Given the description of an element on the screen output the (x, y) to click on. 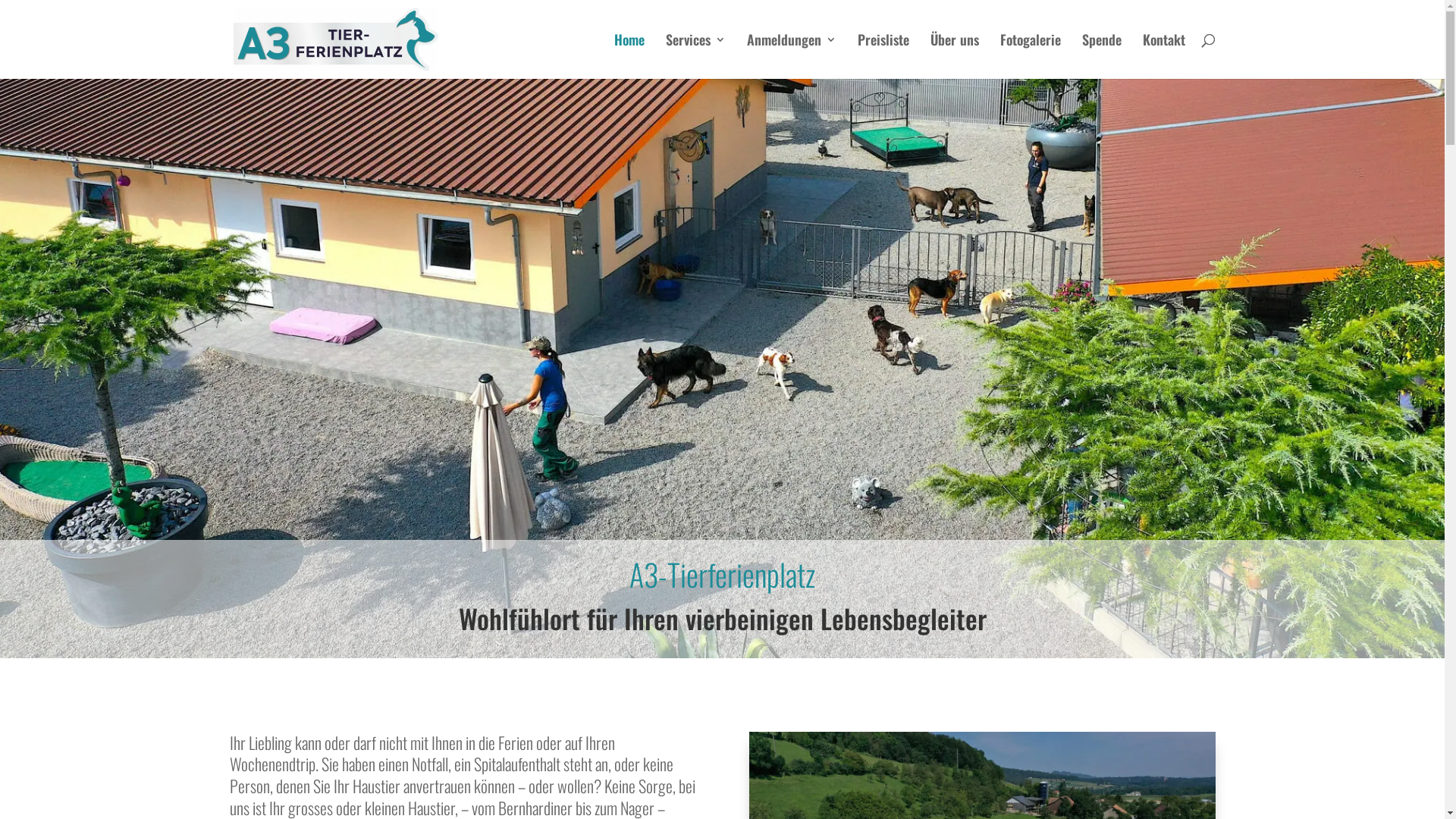
Services Element type: text (695, 56)
Preisliste Element type: text (882, 56)
Kontakt Element type: text (1163, 56)
Fotogalerie Element type: text (1029, 56)
Home Element type: text (629, 56)
Spende Element type: text (1100, 56)
Anmeldungen Element type: text (790, 56)
